Given the description of an element on the screen output the (x, y) to click on. 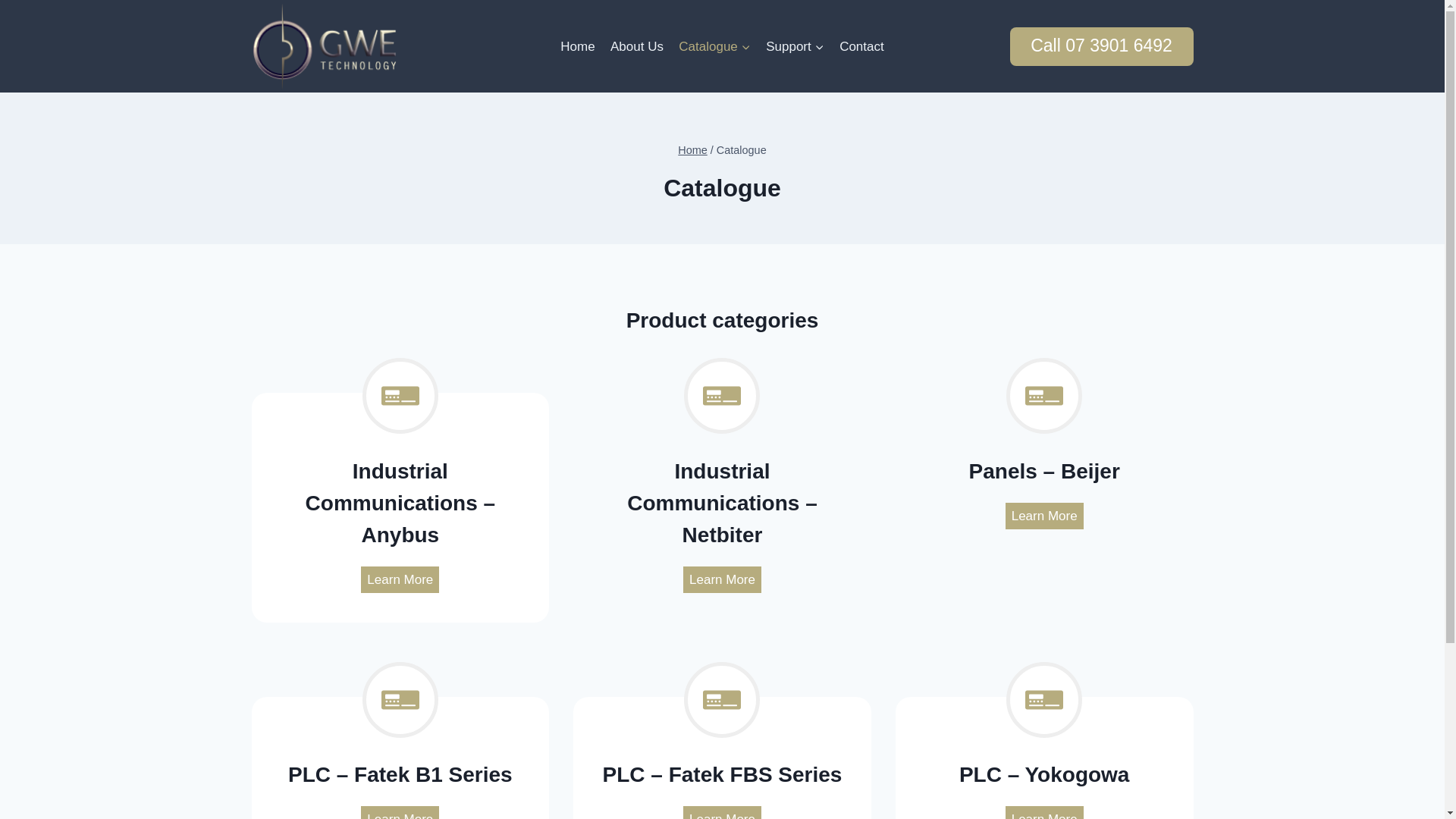
Home Element type: text (692, 150)
Call 07 3901 6492 Element type: text (1101, 46)
Support Element type: text (794, 46)
About Us Element type: text (636, 46)
Home Element type: text (577, 46)
Catalogue Element type: text (714, 46)
Contact Element type: text (861, 46)
